Given the description of an element on the screen output the (x, y) to click on. 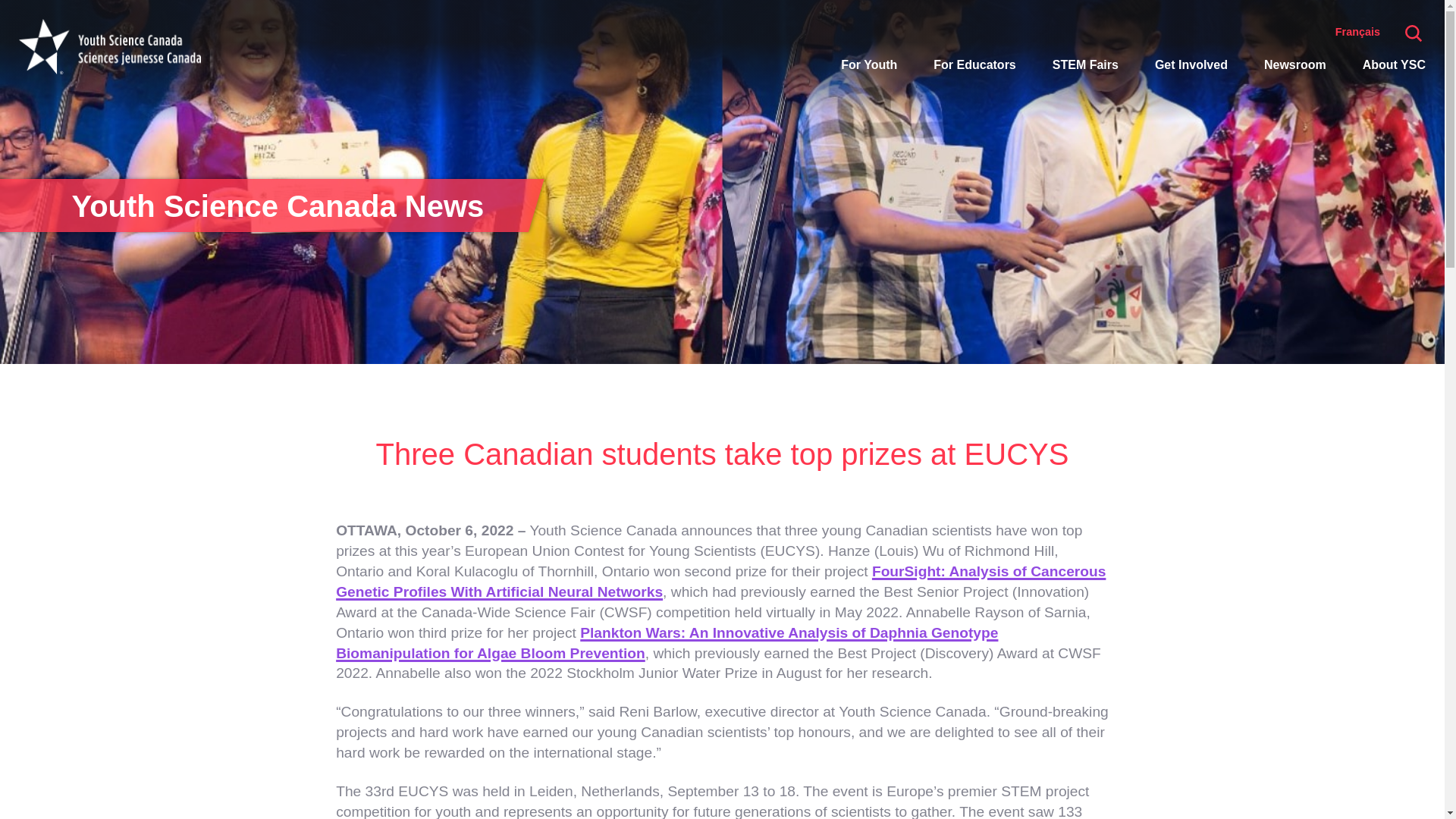
For Youth (868, 64)
Get Involved (1190, 64)
About YSC (1393, 64)
For Educators (973, 64)
Newsroom (1294, 64)
STEM Fairs (1085, 64)
